Given the description of an element on the screen output the (x, y) to click on. 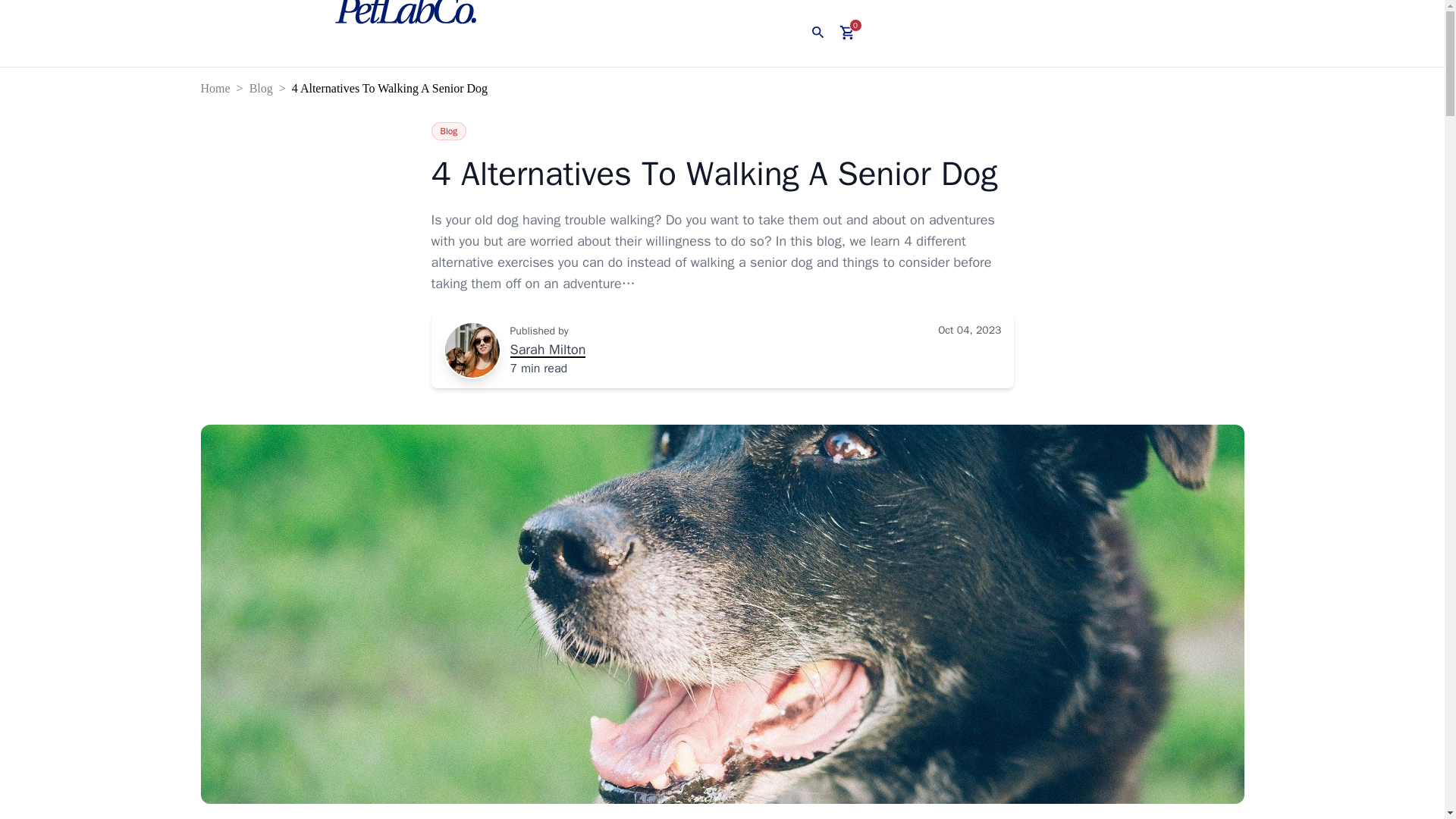
4 Alternatives To Walking A Senior Dog (721, 174)
S (471, 350)
Blog (447, 131)
Sarah Milton (547, 350)
4 Alternatives To Walking A Senior Dog (392, 88)
